Given the description of an element on the screen output the (x, y) to click on. 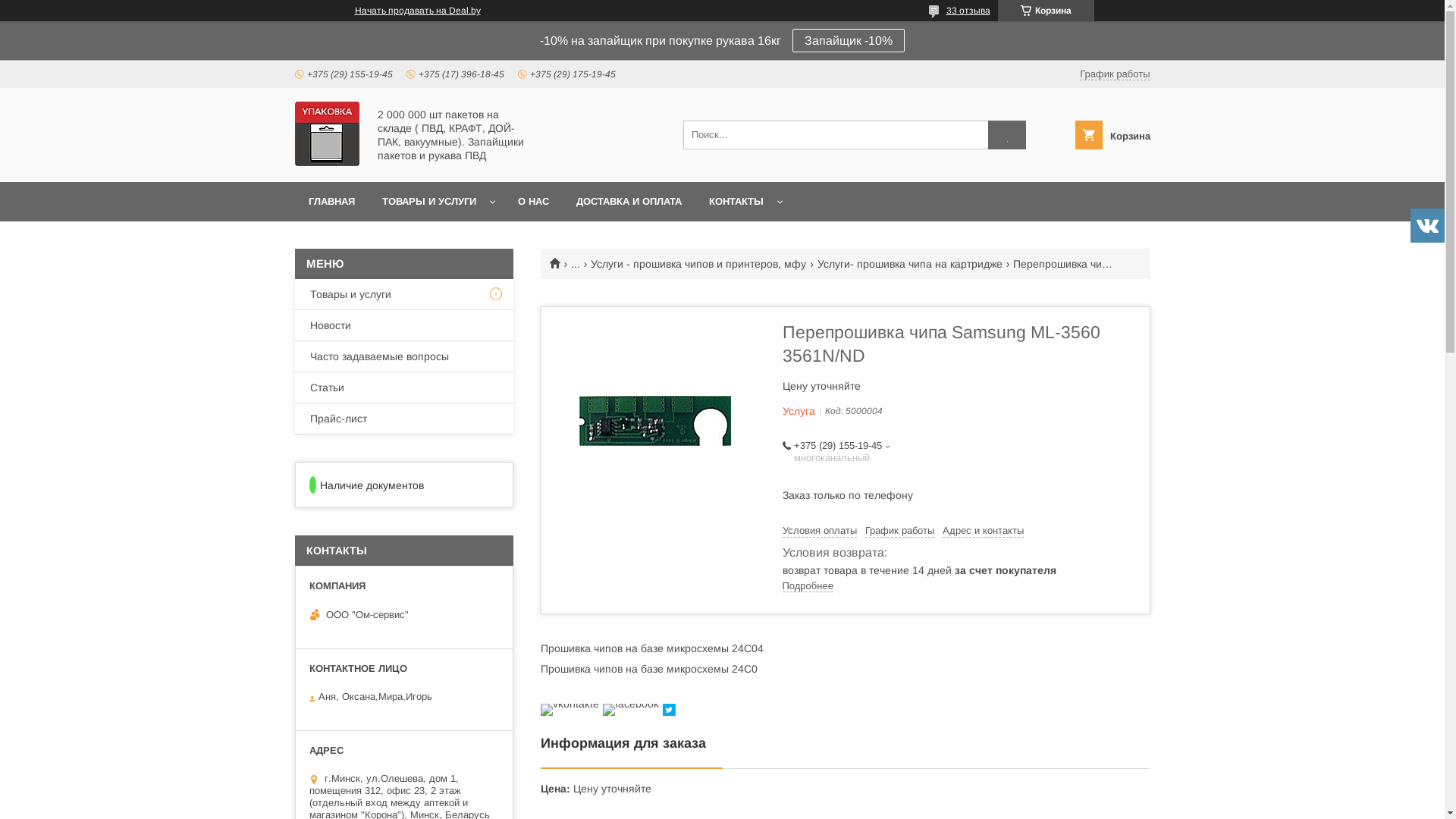
twitter Element type: hover (668, 712)
facebook Element type: hover (630, 703)
